Given the description of an element on the screen output the (x, y) to click on. 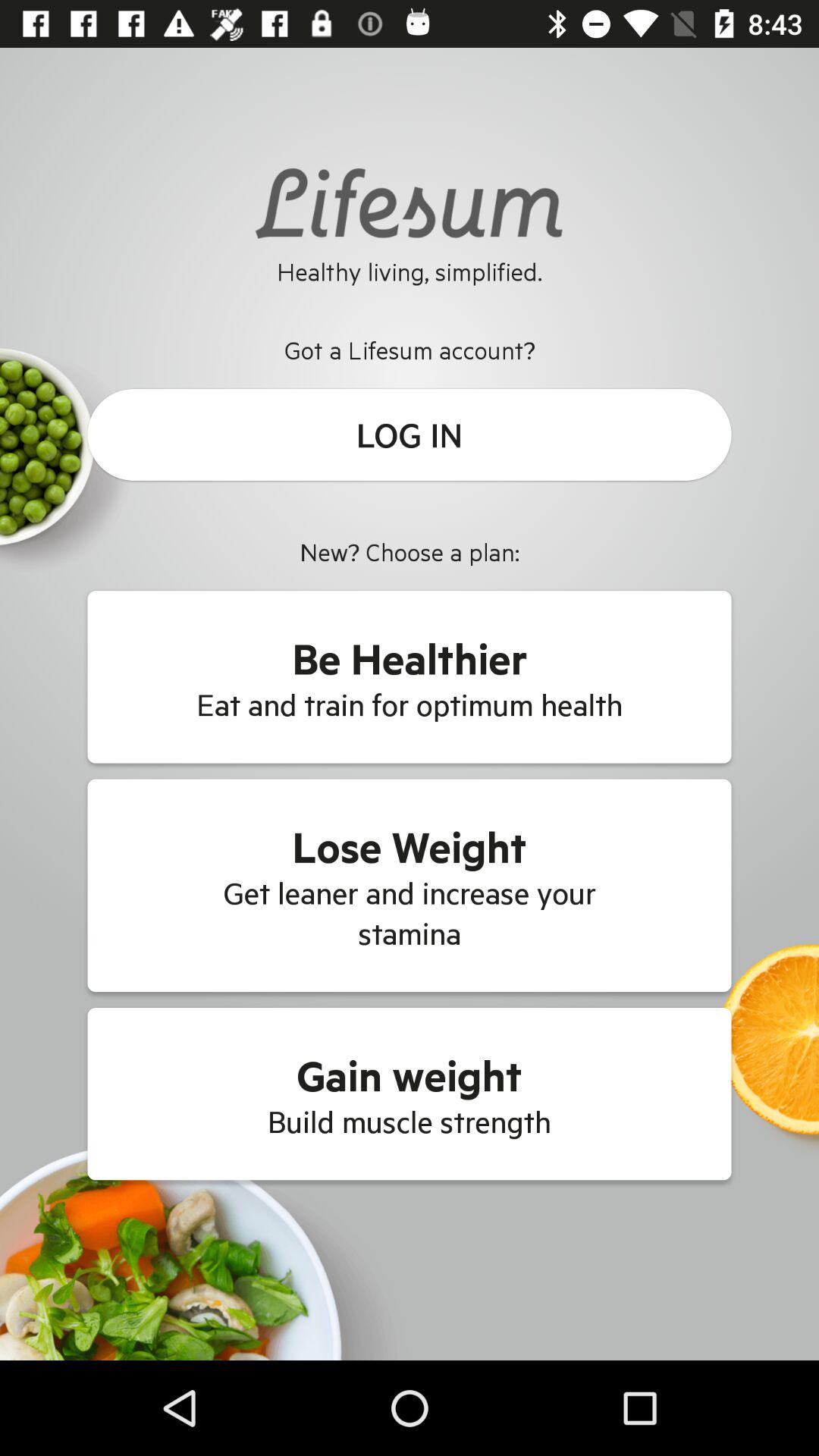
launch the log in icon (409, 434)
